Given the description of an element on the screen output the (x, y) to click on. 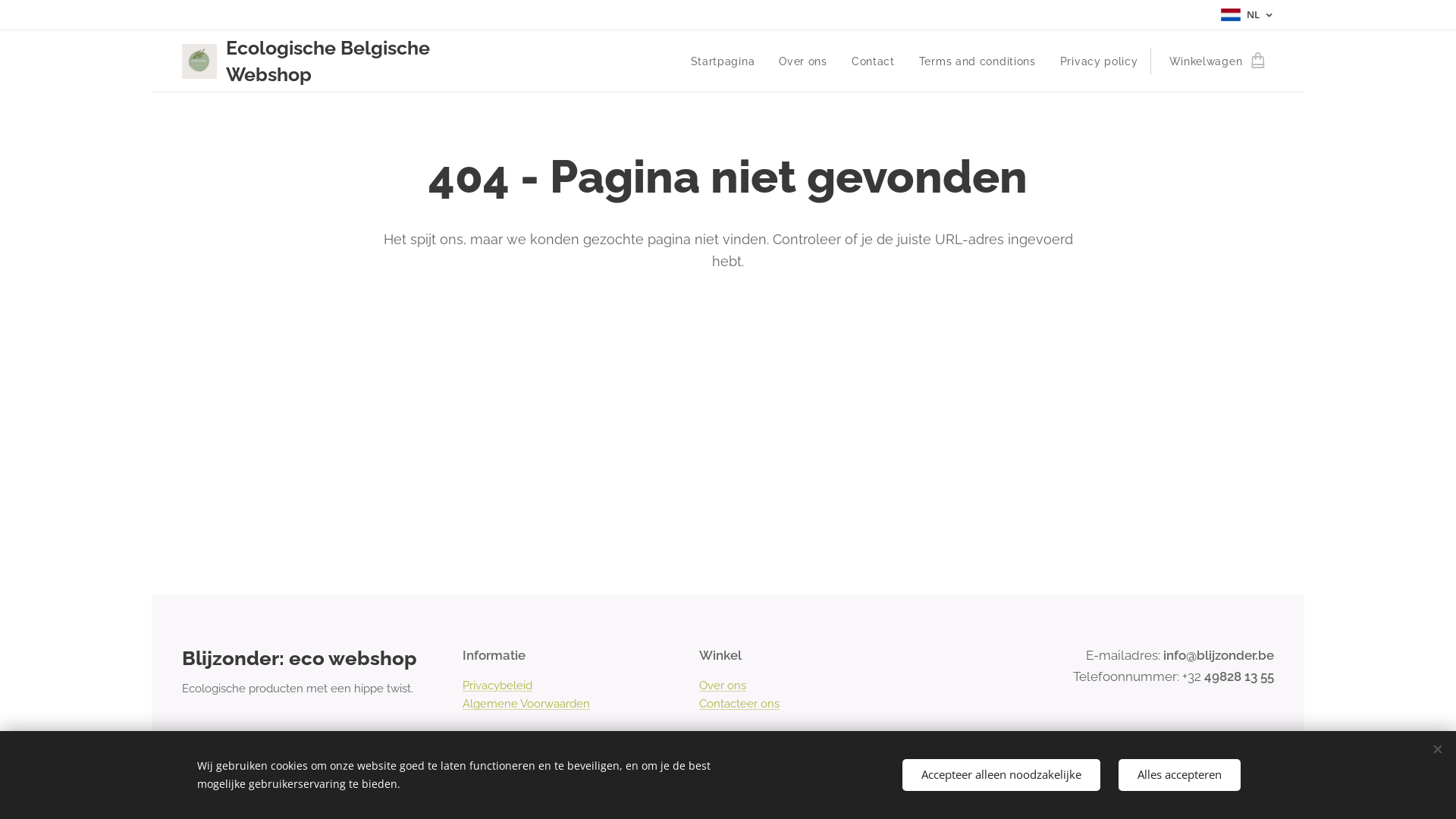
Alles accepteren Element type: text (1179, 774)
Over ons Element type: text (802, 61)
Terms and conditions Element type: text (977, 61)
Contacteer ons Element type: text (739, 703)
Ecologische Belgische Webshop Element type: text (343, 60)
Winkelwagen Element type: text (1212, 61)
Privacy policy Element type: text (1099, 61)
English Element type: text (1255, 792)
Contact Element type: text (872, 61)
Algemene Voorwaarden Element type: text (525, 703)
Cookies Element type: text (201, 792)
Over ons Element type: text (722, 685)
Privacybeleid Element type: text (497, 685)
Accepteer alleen noodzakelijke Element type: text (1001, 774)
Startpagina Element type: text (727, 61)
